Given the description of an element on the screen output the (x, y) to click on. 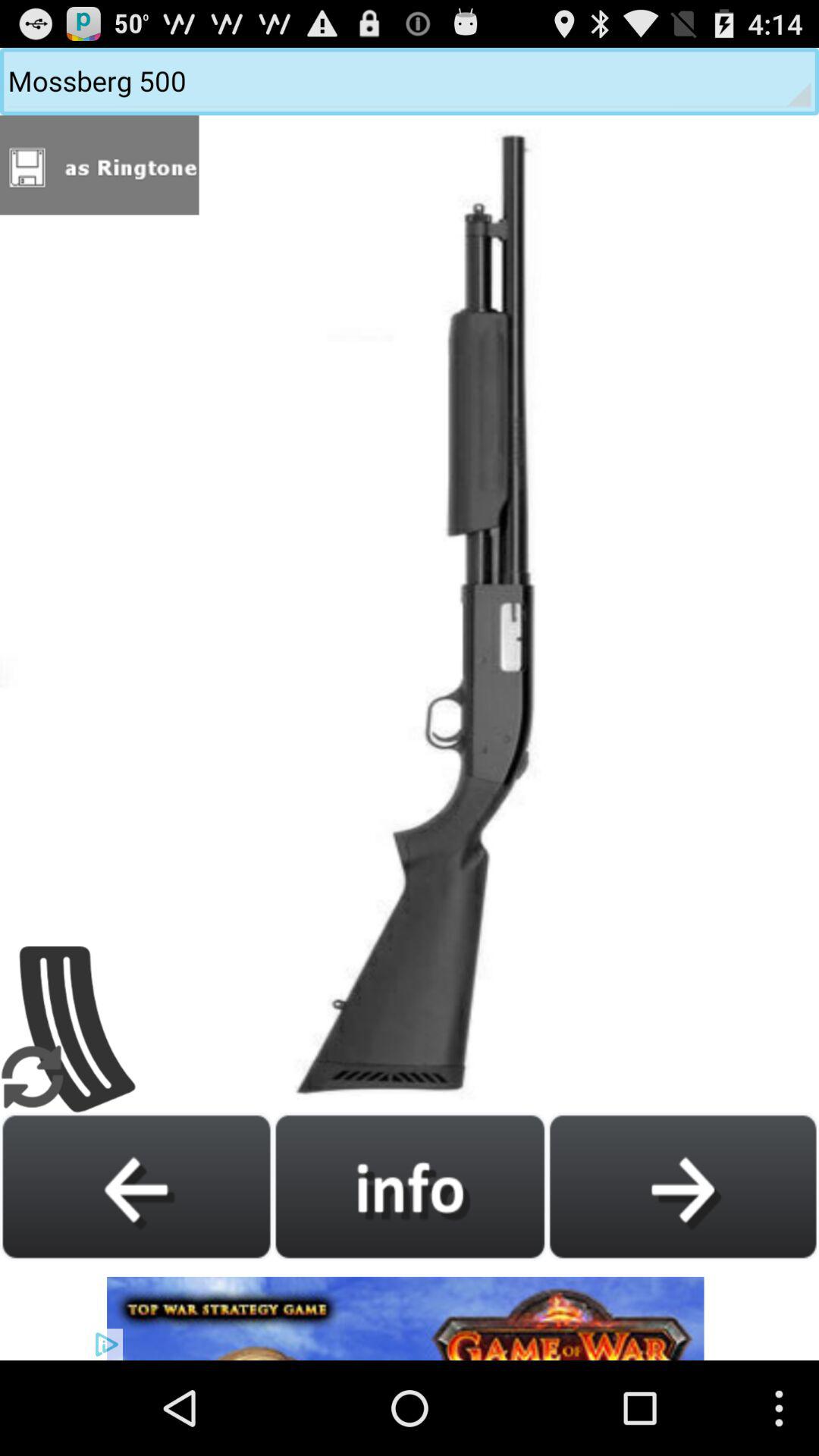
go to next page (683, 1186)
